Given the description of an element on the screen output the (x, y) to click on. 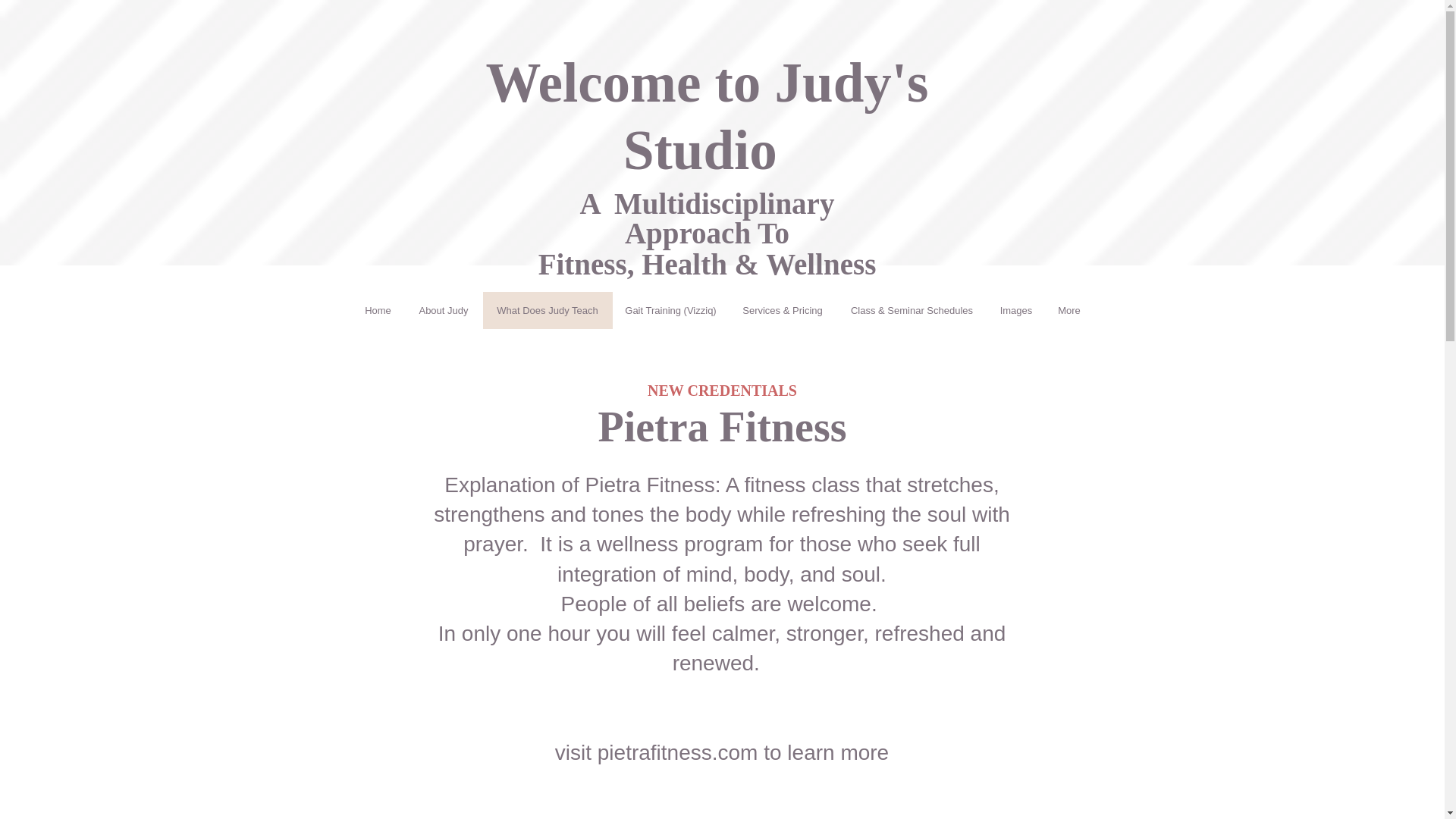
What Does Judy Teach (546, 310)
Home (643, 310)
About Judy (442, 310)
Images (1016, 310)
Home (378, 310)
